Given the description of an element on the screen output the (x, y) to click on. 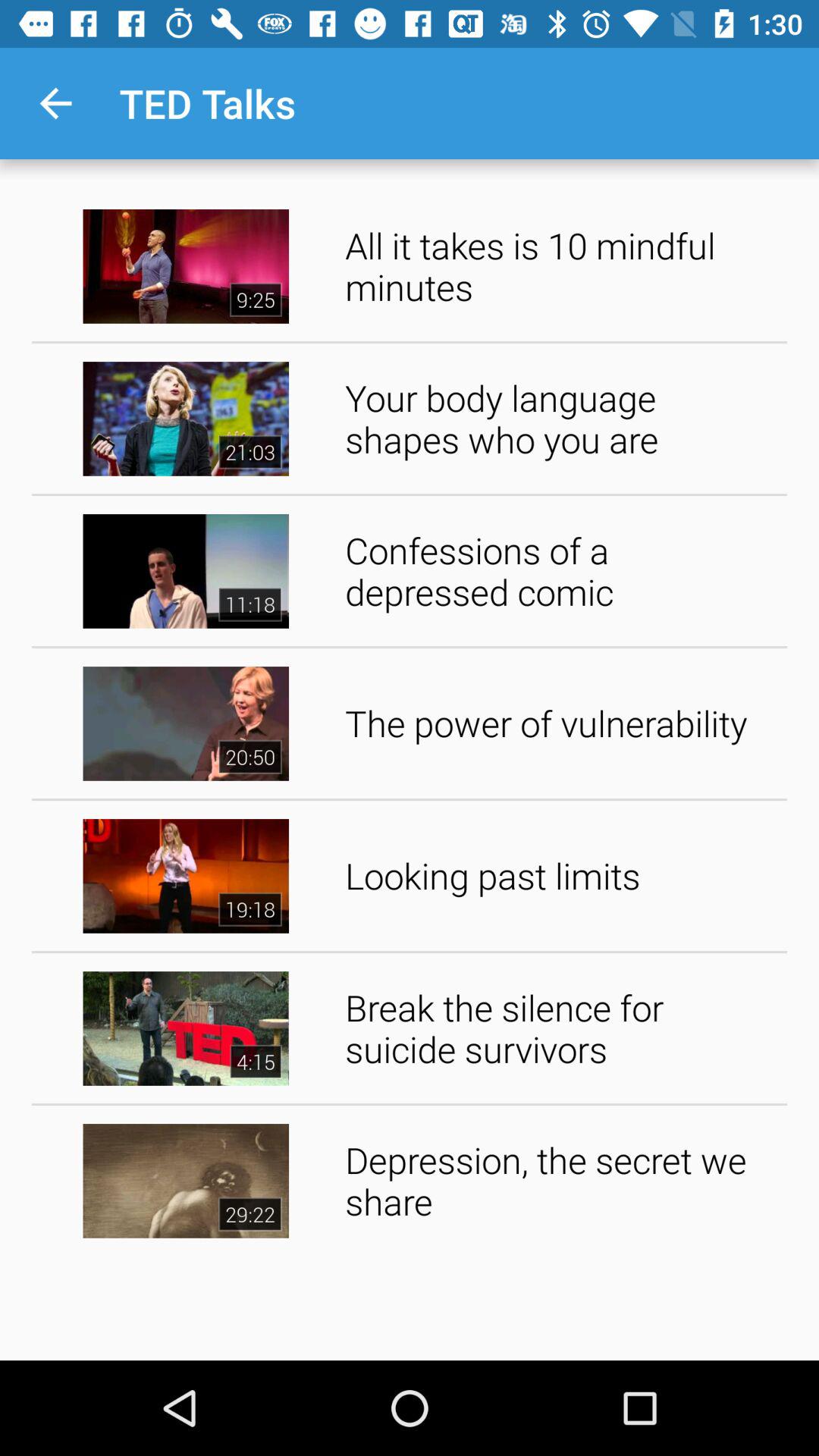
launch app above the power of (560, 570)
